Given the description of an element on the screen output the (x, y) to click on. 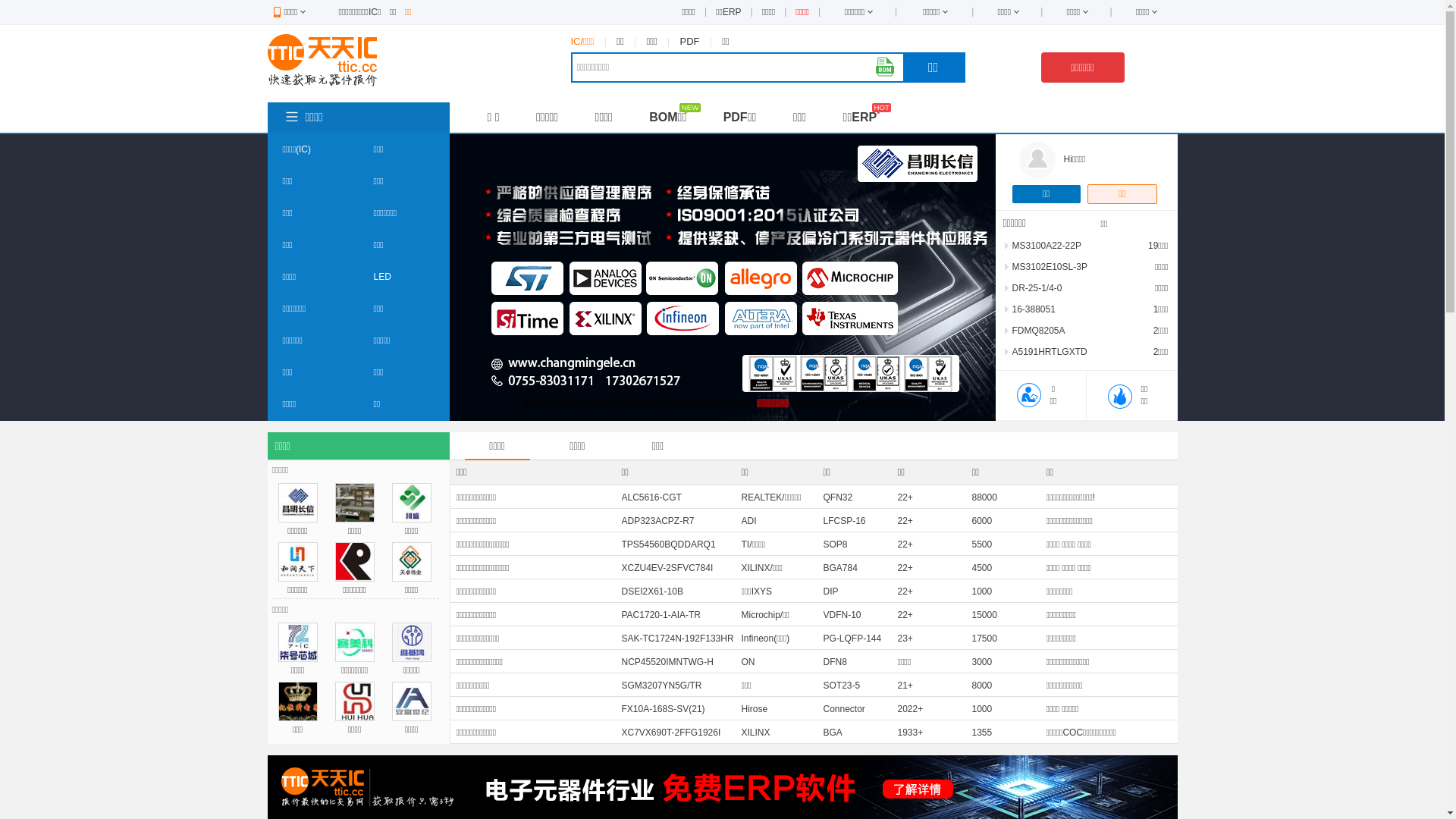
XC7VX690T-2FFG1926I Element type: text (671, 732)
TPS54560BQDDARQ1 Element type: text (668, 544)
16-388051 Element type: text (1032, 309)
SGM3207YN5G/TR Element type: text (661, 685)
ADP323ACPZ-R7 Element type: text (657, 520)
XCZU4EV-2SFVC784I Element type: text (667, 567)
MS3100A22-22P Element type: text (1045, 245)
ALC5616-CGT Element type: text (651, 497)
PDF Element type: text (689, 41)
FDMQ8205A Element type: text (1037, 330)
MS3102E10SL-3P Element type: text (1048, 266)
FX10A-168S-SV(21) Element type: text (663, 708)
SAK-TC1724N-192F133HR AC Element type: text (677, 647)
PAC1720-1-AIA-TR Element type: text (660, 614)
DR-25-1/4-0 Element type: text (1036, 287)
DSEI2X61-10B Element type: text (652, 591)
LED Element type: text (381, 276)
NCP45520IMNTWG-H Element type: text (667, 661)
A5191HRTLGXTD Element type: text (1048, 351)
